Given the description of an element on the screen output the (x, y) to click on. 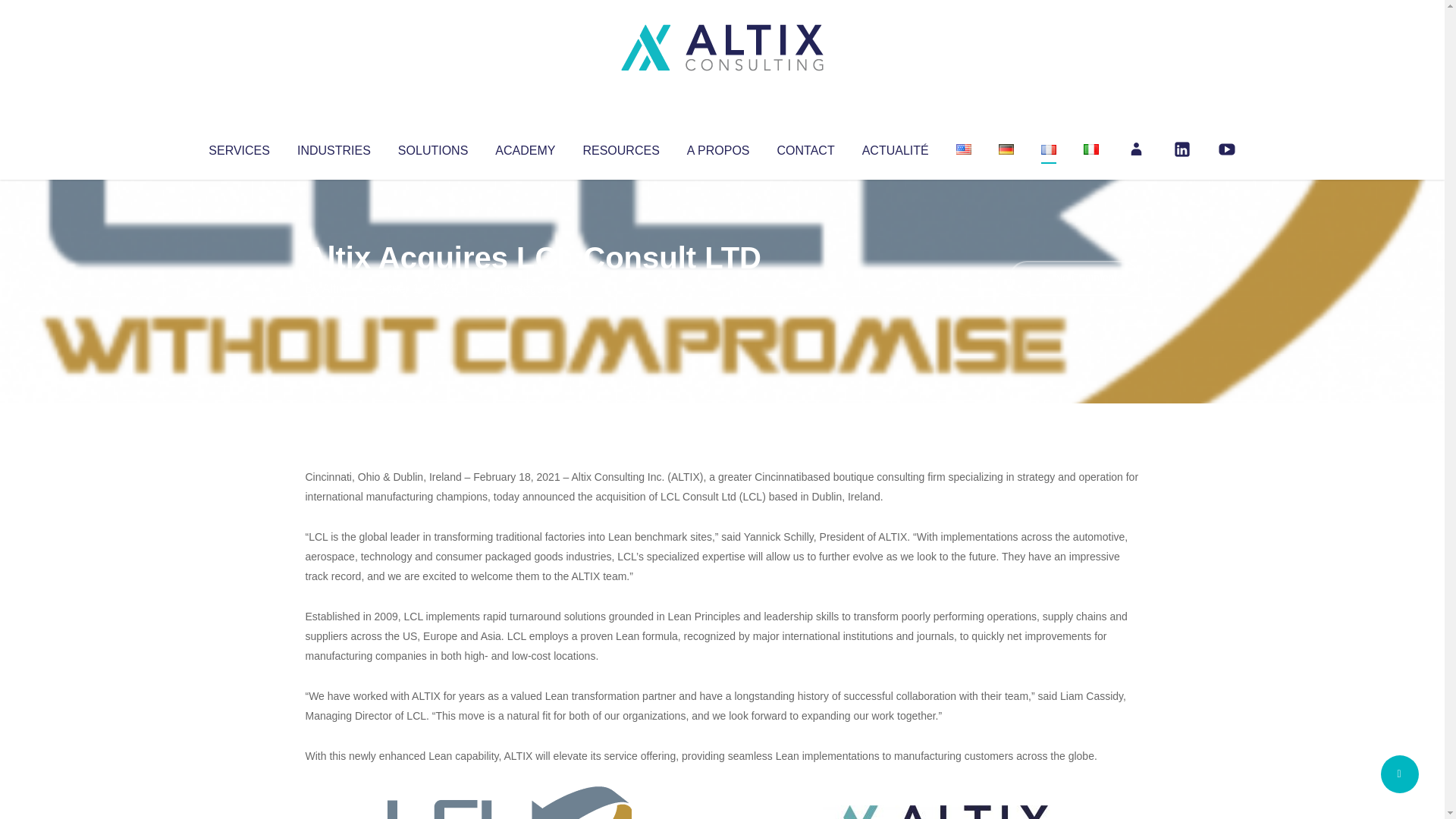
SOLUTIONS (432, 146)
Altix (333, 287)
No Comments (1073, 278)
A PROPOS (718, 146)
SERVICES (238, 146)
Uncategorized (530, 287)
INDUSTRIES (334, 146)
ACADEMY (524, 146)
Articles par Altix (333, 287)
RESOURCES (620, 146)
